Given the description of an element on the screen output the (x, y) to click on. 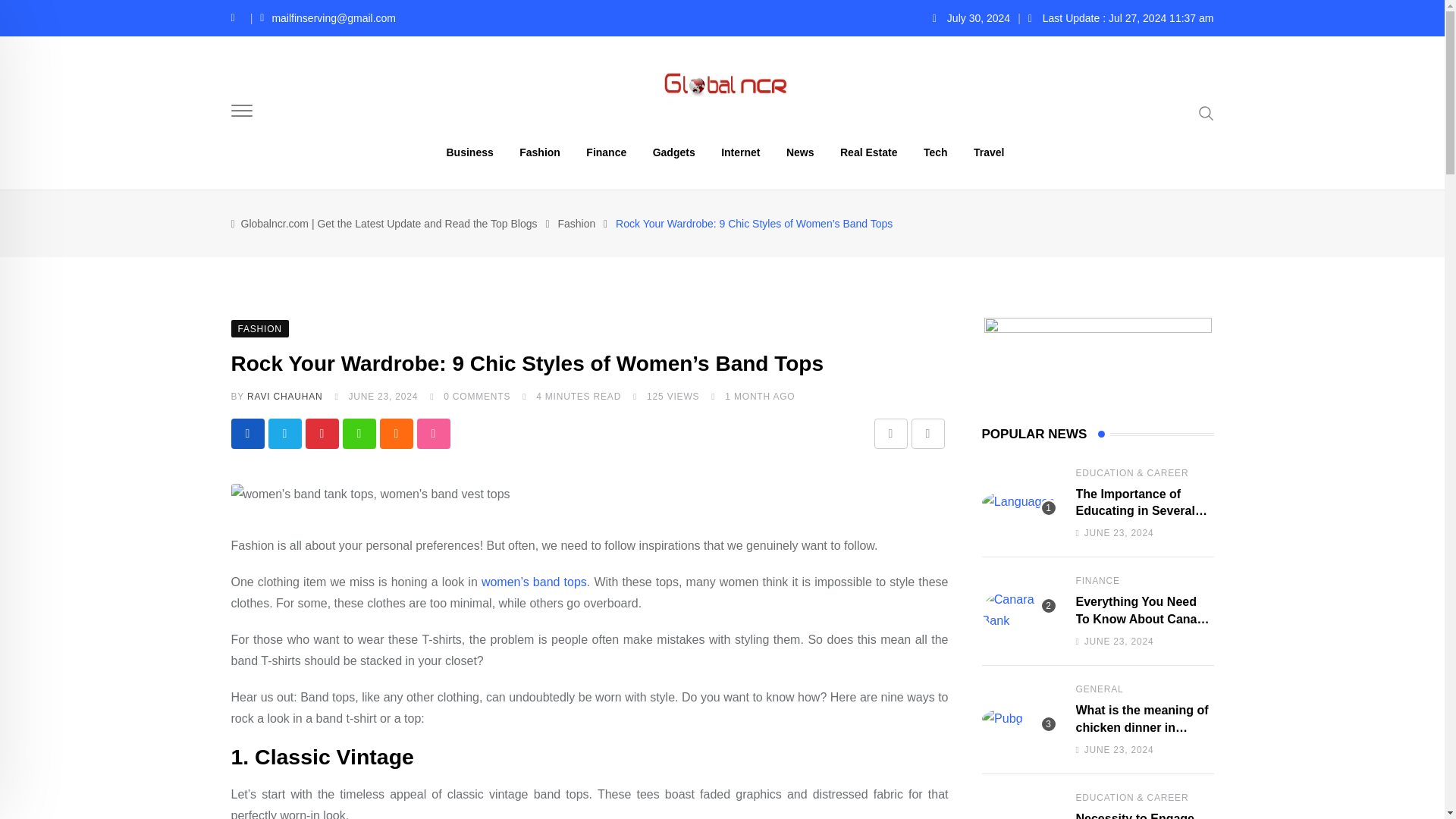
Posts by Ravi Chauhan (284, 396)
What is the meaning of chicken dinner in pubg? (1019, 718)
Go to the Fashion category archives. (576, 223)
Everything You Need To Know About Canara Bank Scholar Corner (1019, 609)
Real Estate (868, 152)
The Importance of Educating in Several Languages (1019, 502)
Fashion (576, 223)
Business (470, 152)
Search (1205, 112)
